Given the description of an element on the screen output the (x, y) to click on. 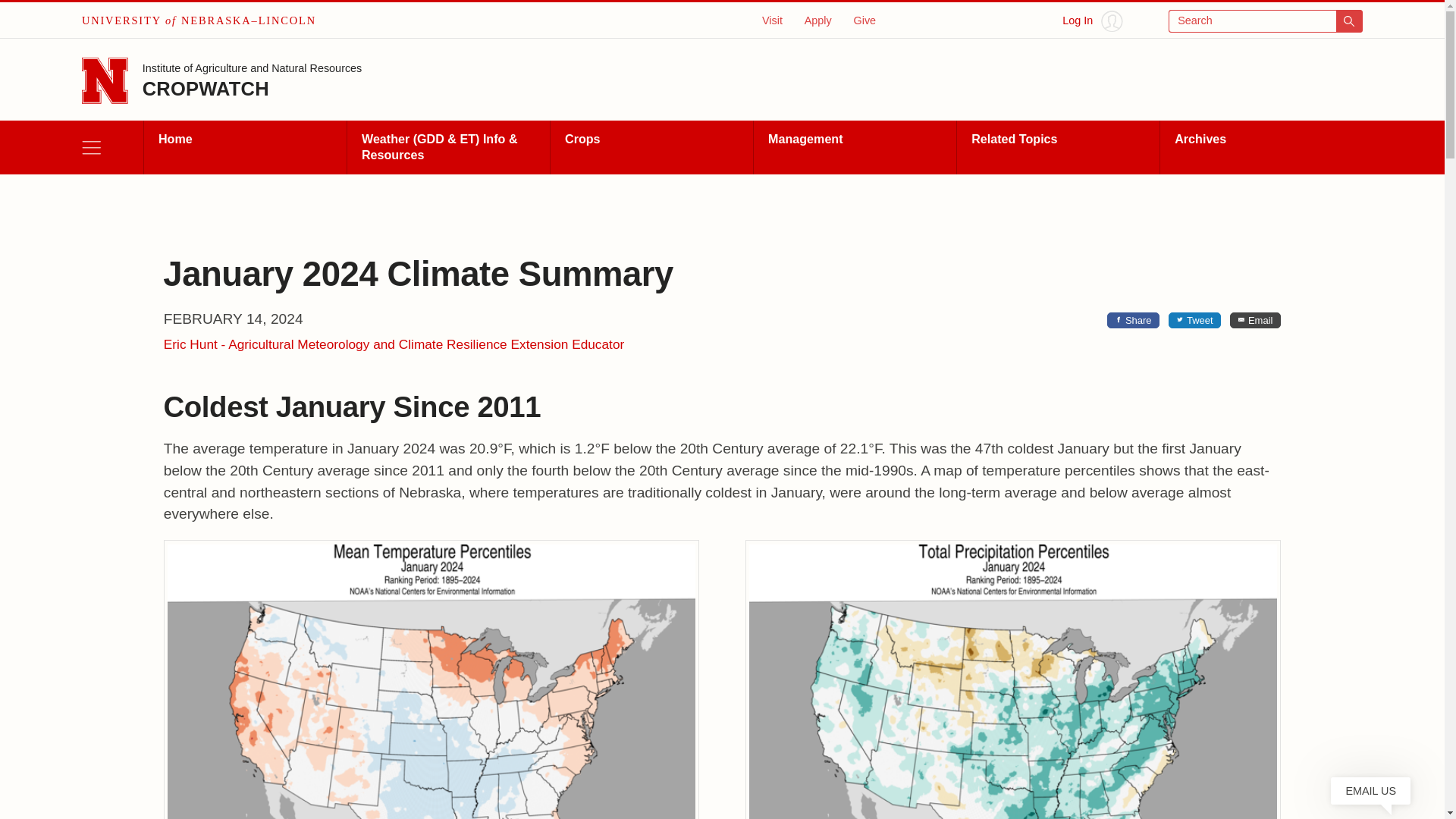
Apply (818, 20)
Visit (772, 20)
Search (1265, 21)
Crops (651, 147)
Skip to main content (19, 16)
CROPWATCH (205, 88)
Give (864, 20)
Institute of Agriculture and Natural Resources (252, 69)
Home (244, 147)
Log In (1092, 21)
